Given the description of an element on the screen output the (x, y) to click on. 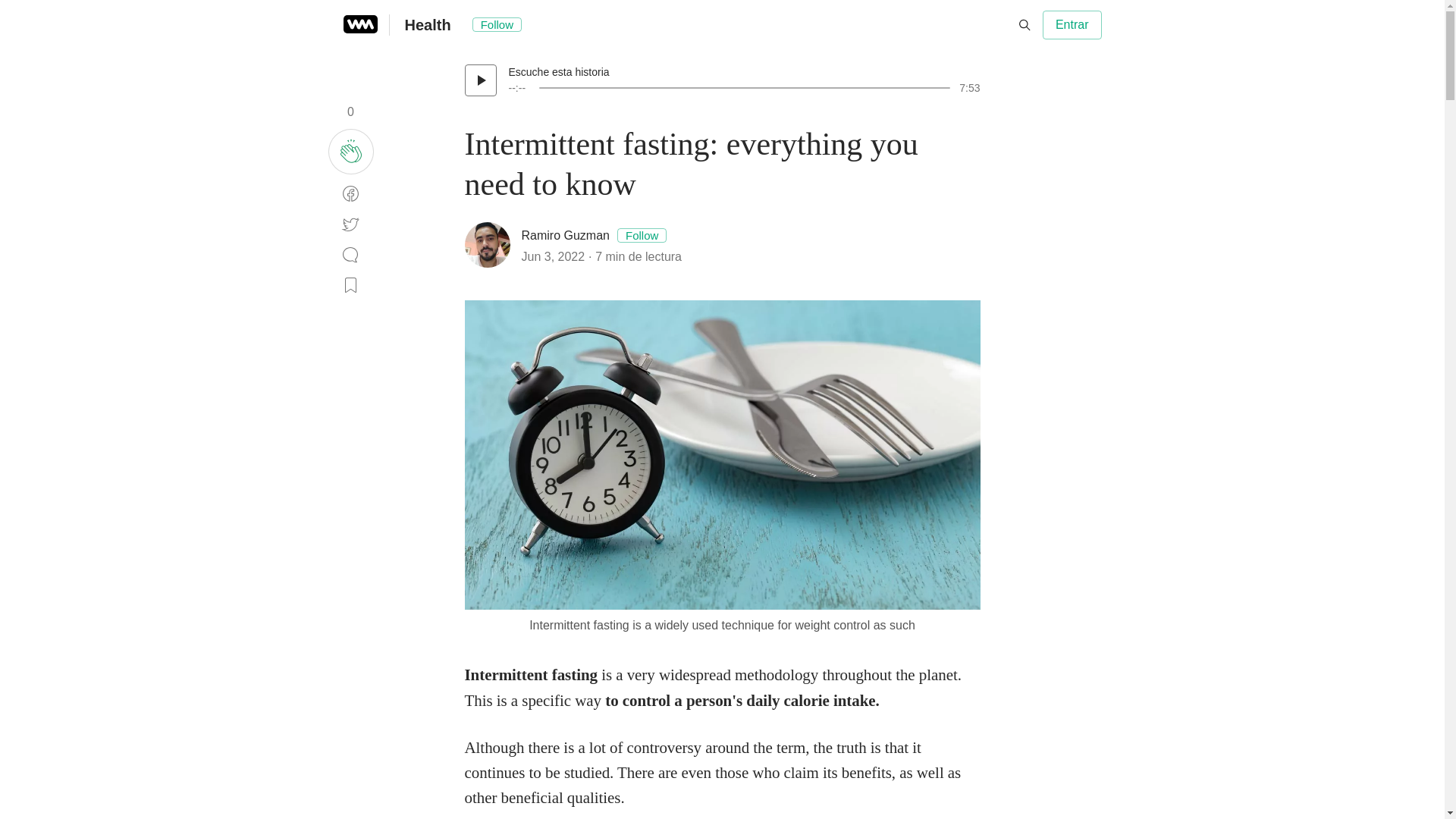
Health (427, 24)
Entrar (1072, 24)
Follow (641, 235)
Follow (496, 24)
Ramiro Guzman (565, 235)
